Given the description of an element on the screen output the (x, y) to click on. 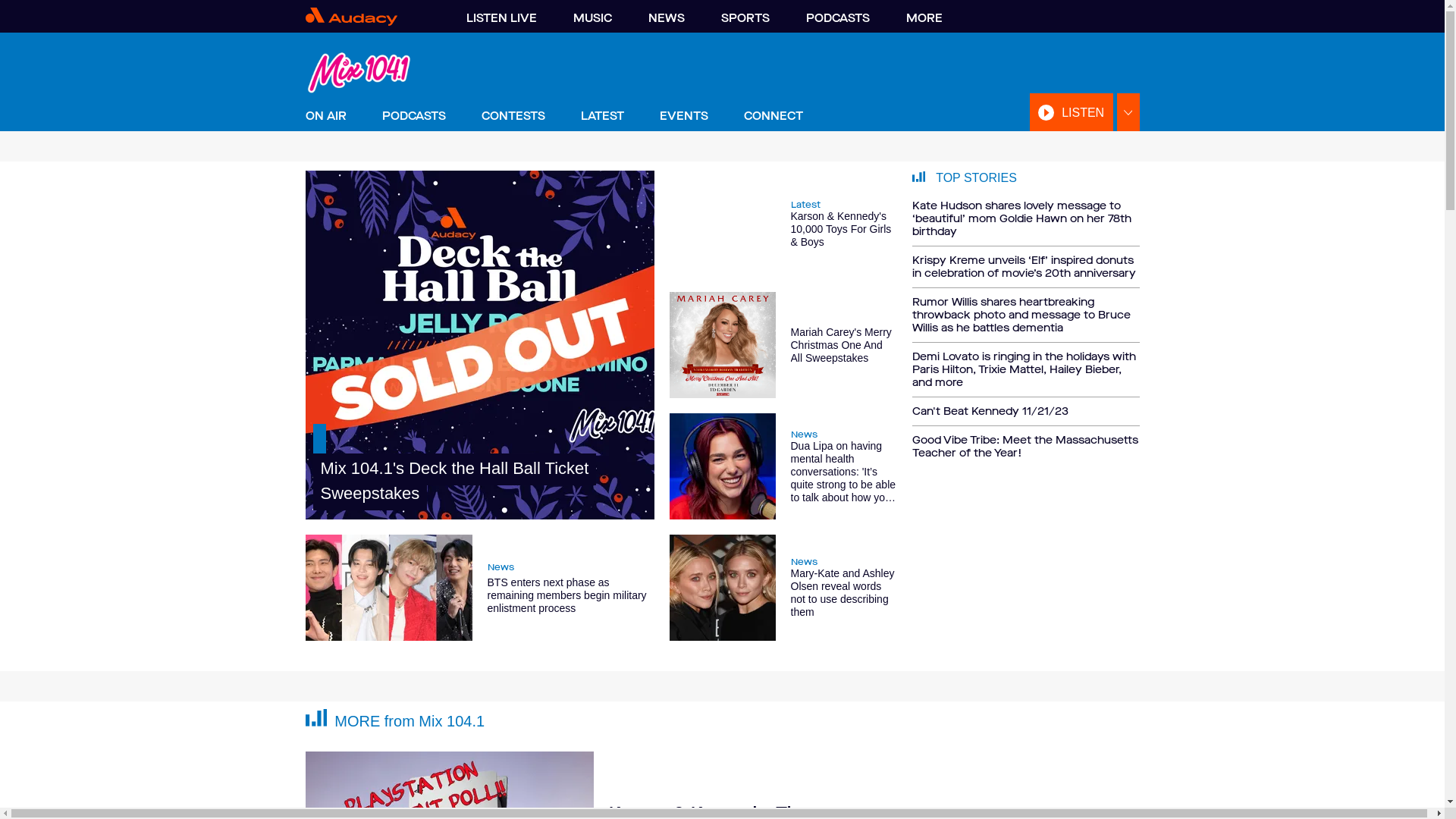
Good Vibe Tribe: Meet the Massachusetts Teacher of the Year! Element type: text (1025, 442)
Latest
Karson & Kennedy's 10,000 Toys For Girls & Boys Element type: text (782, 223)
Can't Beat Kennedy 11/21/23 Element type: text (1025, 411)
MUSIC Element type: text (592, 17)
CONNECT Element type: text (772, 115)
CONTESTS Element type: text (512, 115)
Mariah Carey's Merry Christmas One And All Sweepstakes Element type: text (782, 344)
SPORTS Element type: text (744, 17)
LISTEN Element type: text (1071, 112)
ON AIR Element type: text (324, 115)
EVENTS Element type: text (683, 115)
Mix 104.1's Deck the Hall Ball Ticket Sweepstakes Element type: text (478, 344)
PODCASTS Element type: text (837, 17)
Audacy Logo Element type: text (369, 16)
LISTEN LIVE Element type: text (500, 17)
PODCASTS Element type: text (413, 115)
NEWS Element type: text (665, 17)
LATEST Element type: text (602, 115)
MORE Element type: text (923, 17)
